Given the description of an element on the screen output the (x, y) to click on. 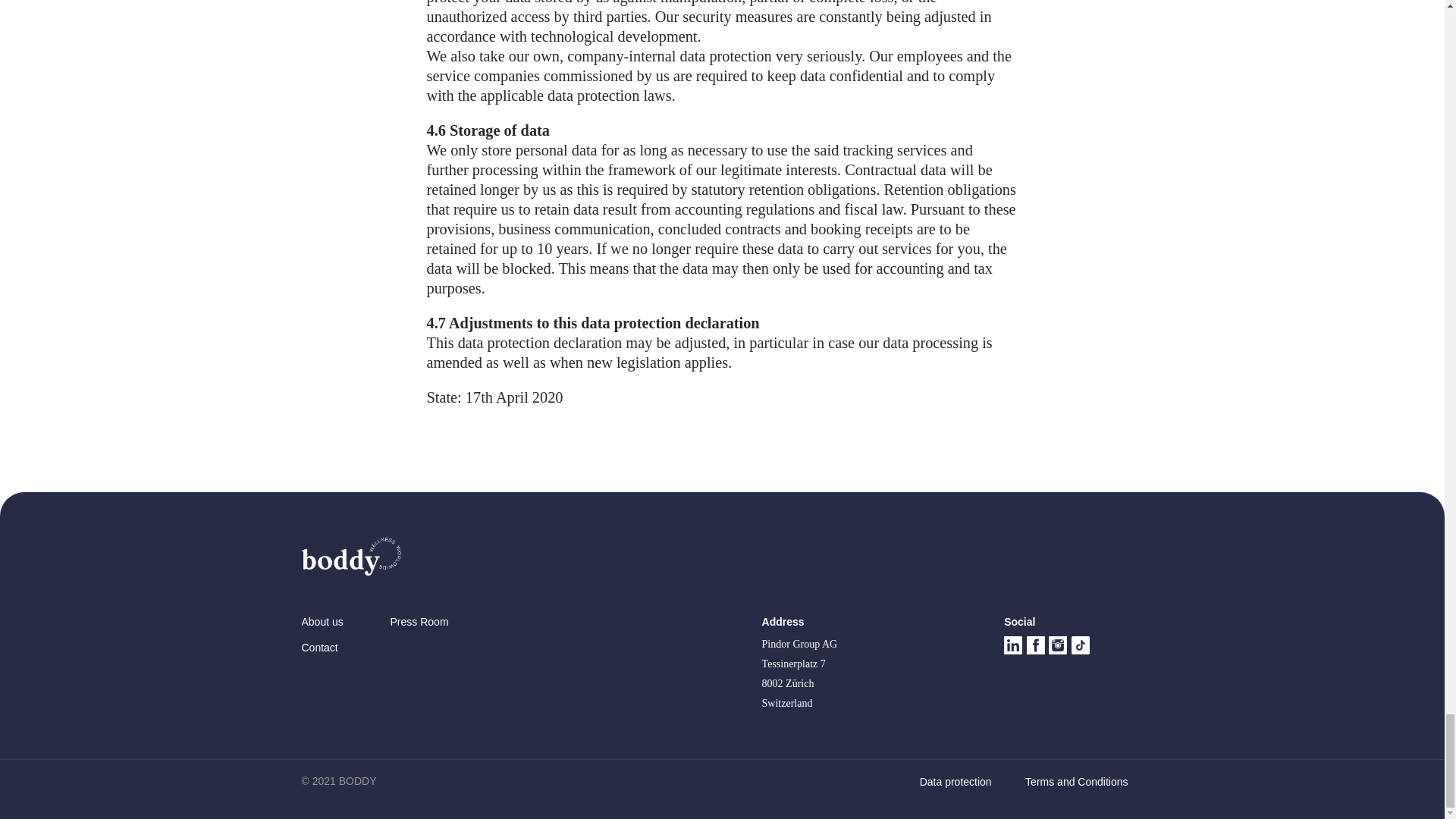
Terms and Conditions (1075, 780)
Press Room (419, 621)
About us (322, 621)
Data protection (955, 780)
Contact (319, 647)
